Given the description of an element on the screen output the (x, y) to click on. 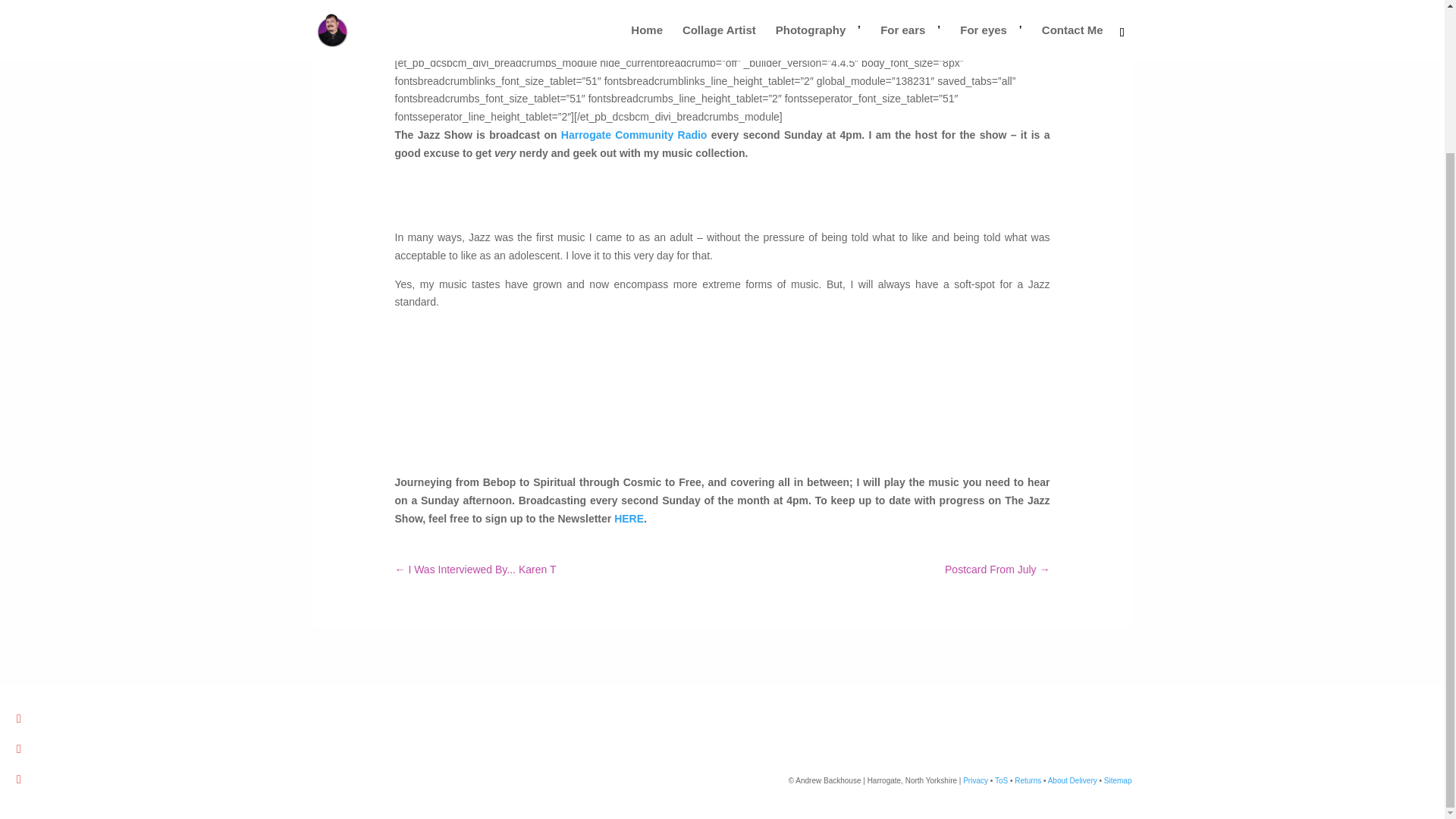
Posts by Andrew Backhouse (453, 11)
